Given the description of an element on the screen output the (x, y) to click on. 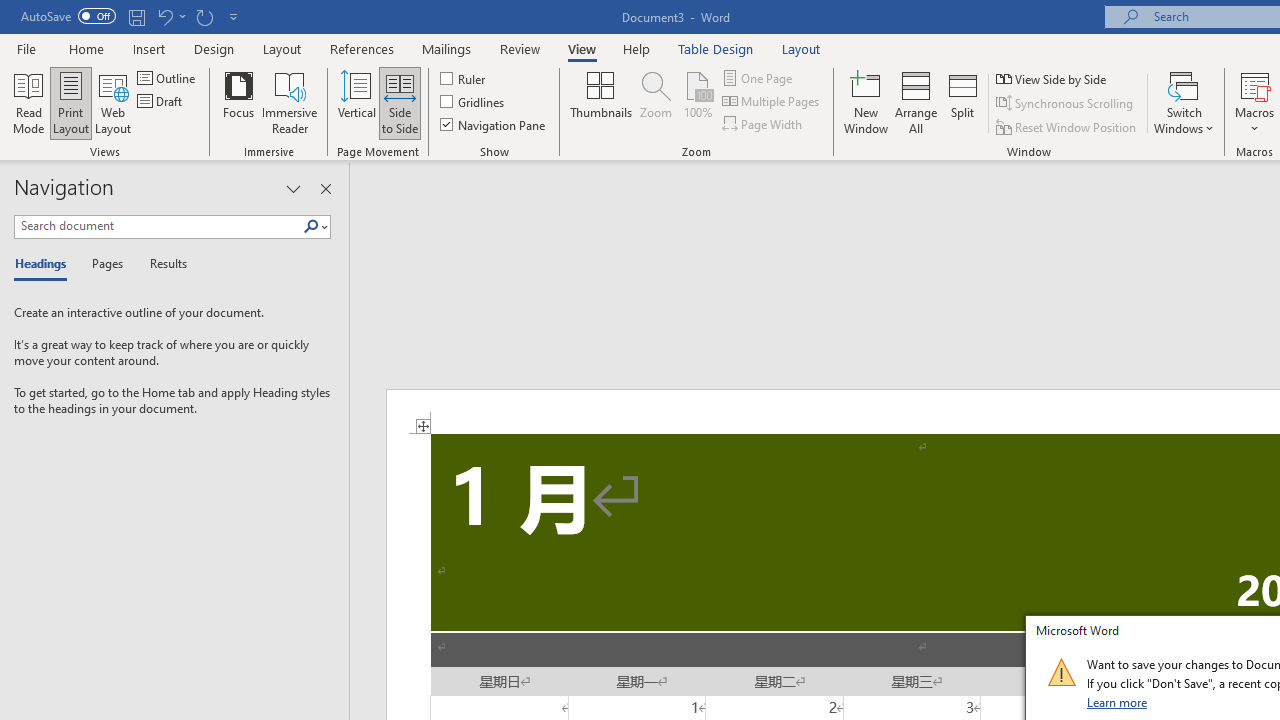
Focus (238, 102)
One Page (758, 78)
Outline (168, 78)
Undo Increase Indent (170, 15)
Multiple Pages (772, 101)
Search document (157, 226)
100% (698, 102)
Results (161, 264)
Switch Windows (1184, 102)
